Given the description of an element on the screen output the (x, y) to click on. 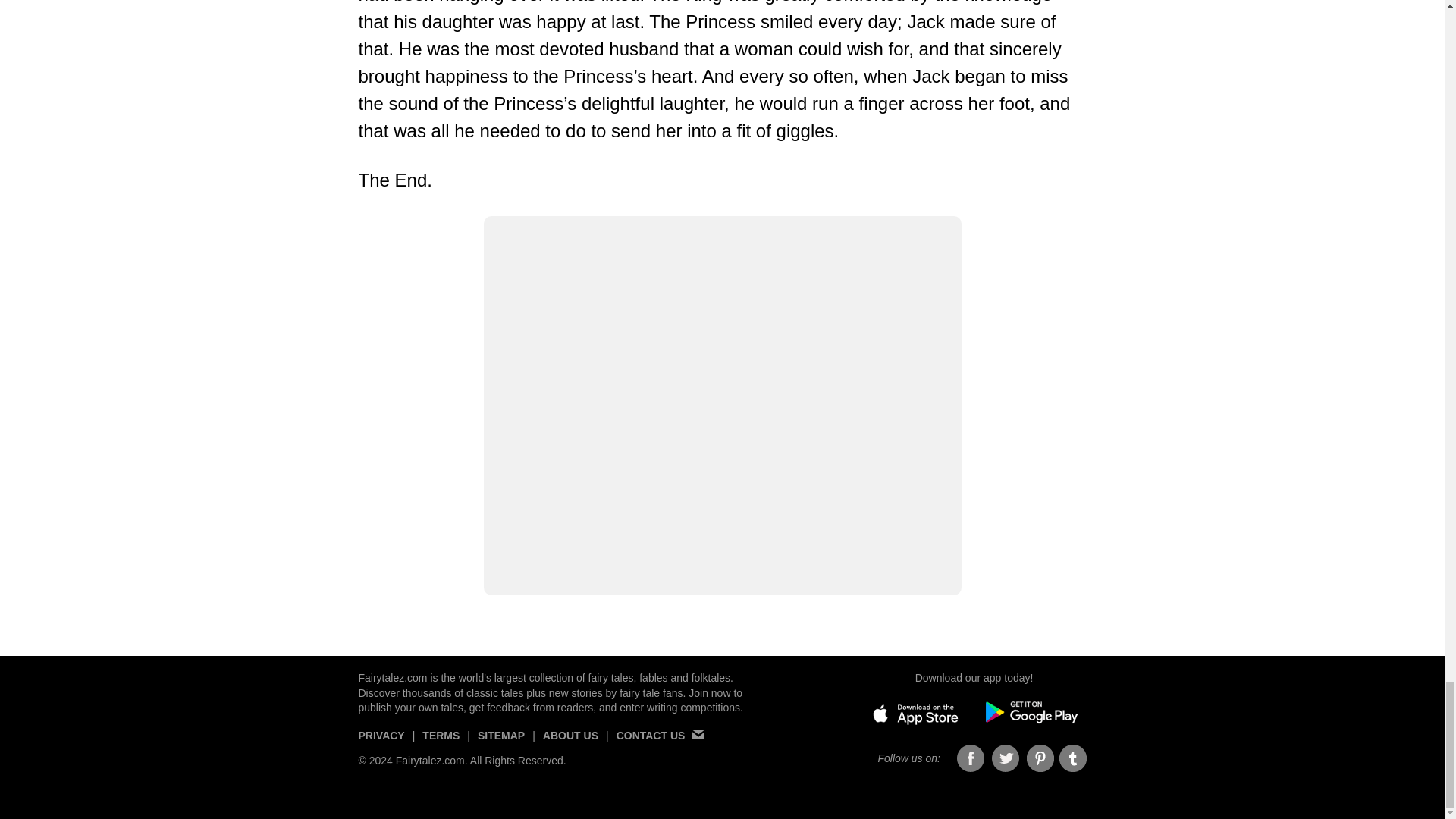
Follow us on Twitter (1006, 758)
TERMS (441, 741)
Fairytalez.com (430, 760)
Sitemap (500, 741)
CONTACT US (659, 741)
PRIVACY (381, 741)
ABOUT US (570, 741)
SITEMAP (500, 741)
Fairytalez.com (392, 677)
Follow us on  Facebook (971, 758)
Privacy (381, 741)
